Given the description of an element on the screen output the (x, y) to click on. 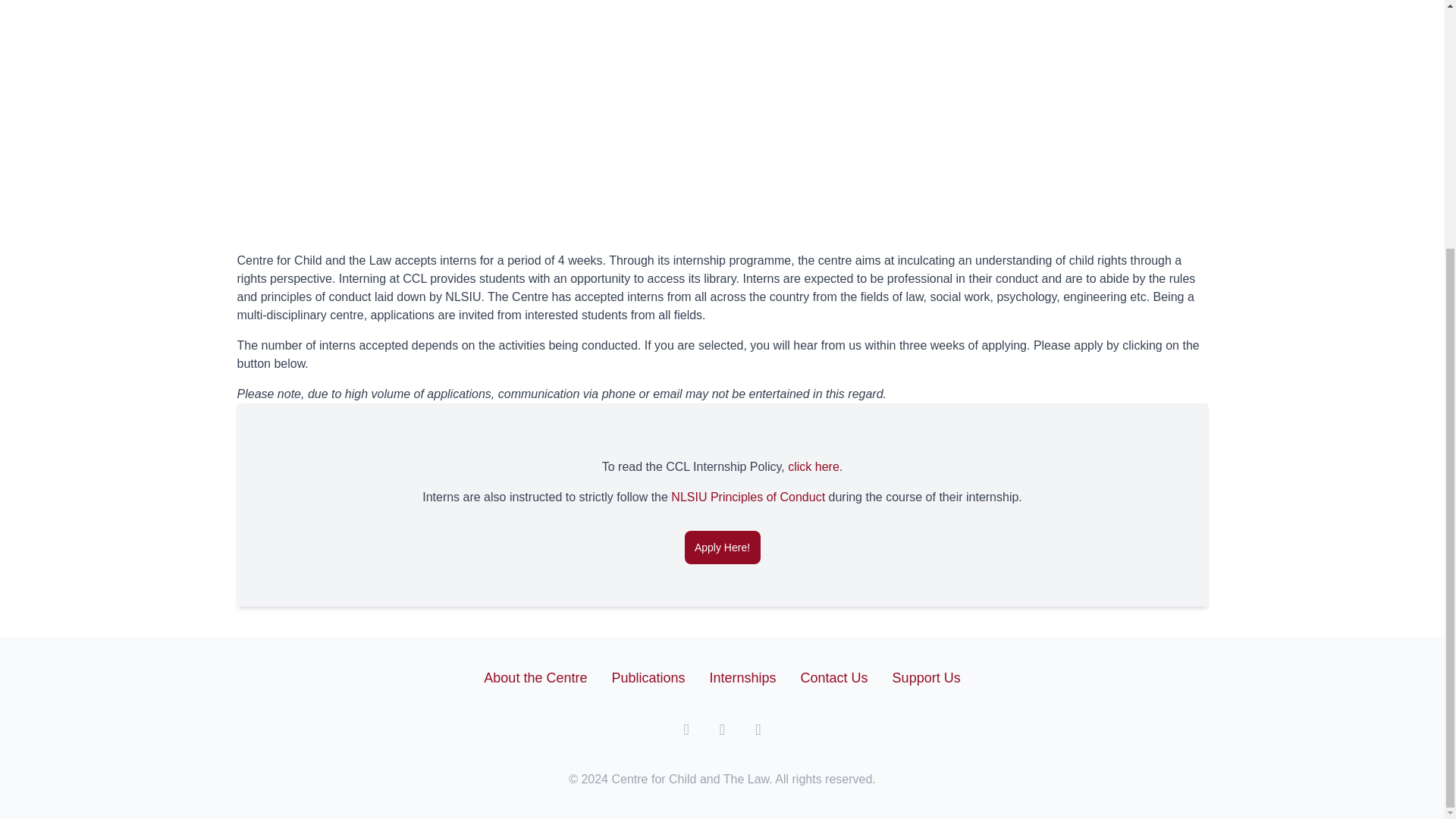
Contact Us (833, 678)
NLSIU Principles of Conduct (748, 496)
Apply Here! (722, 547)
Internships (743, 678)
Publications (647, 678)
About the Centre (534, 678)
click here (813, 466)
Support Us (926, 678)
